Given the description of an element on the screen output the (x, y) to click on. 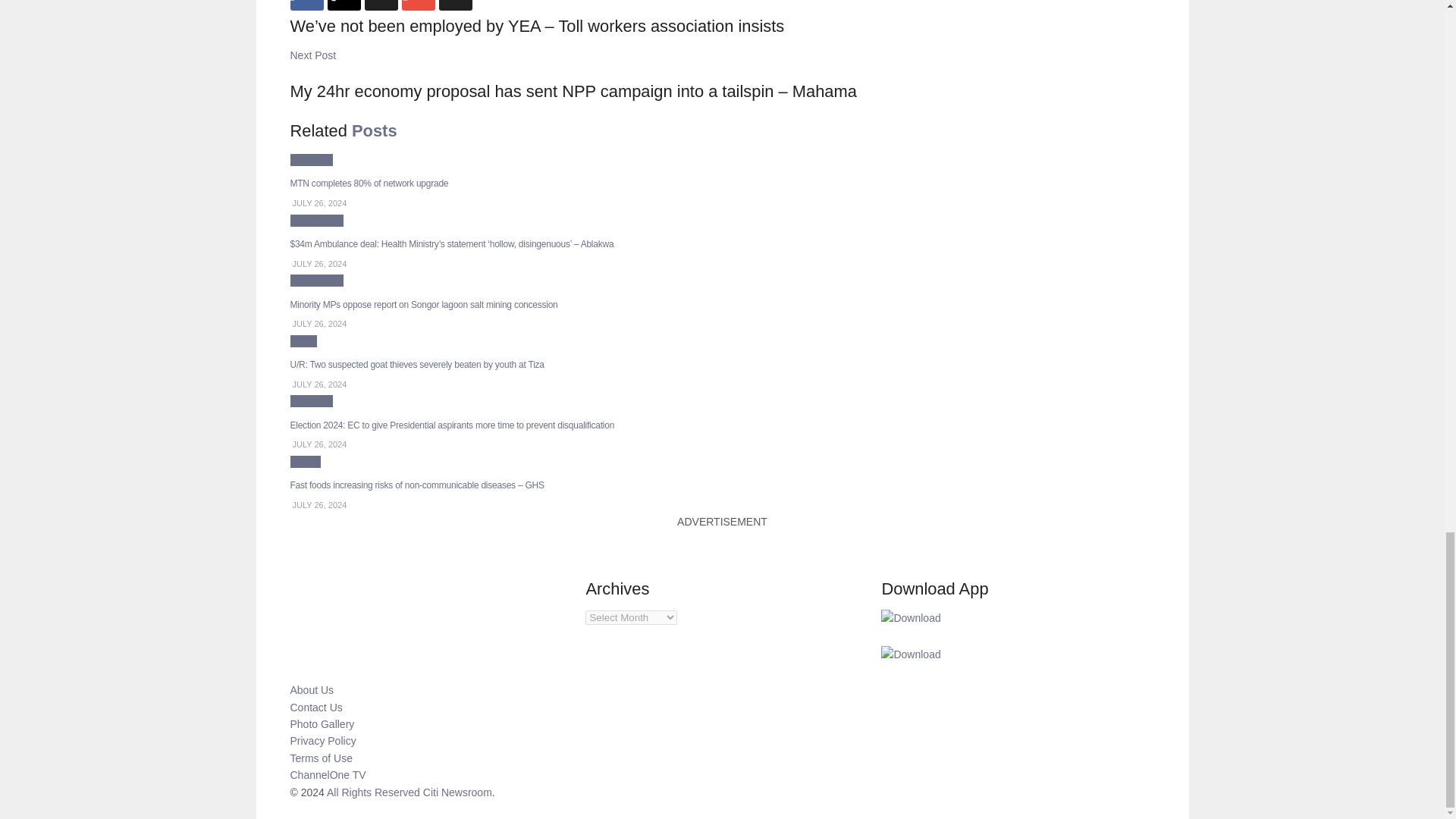
Citi Newsroom (457, 792)
App Store (910, 654)
Citi Newsroom (373, 792)
Google Play (910, 617)
